Given the description of an element on the screen output the (x, y) to click on. 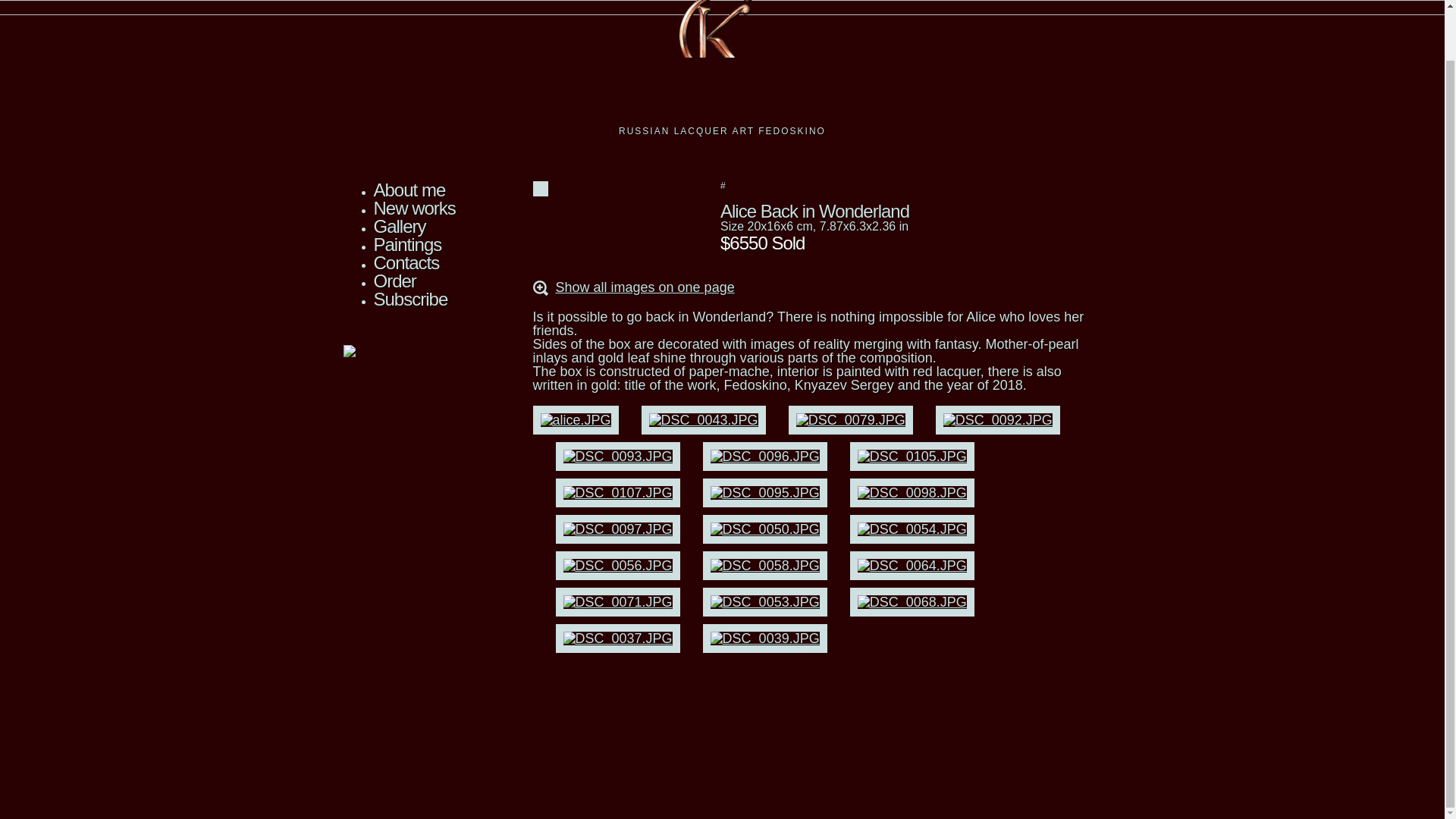
New works (413, 208)
Contacts (405, 262)
Order (393, 281)
About me (408, 189)
Subscribe (409, 299)
Paintings (406, 244)
Gallery (398, 226)
Show all images on one page (643, 287)
Alice Back in Wonderland (814, 210)
